Given the description of an element on the screen output the (x, y) to click on. 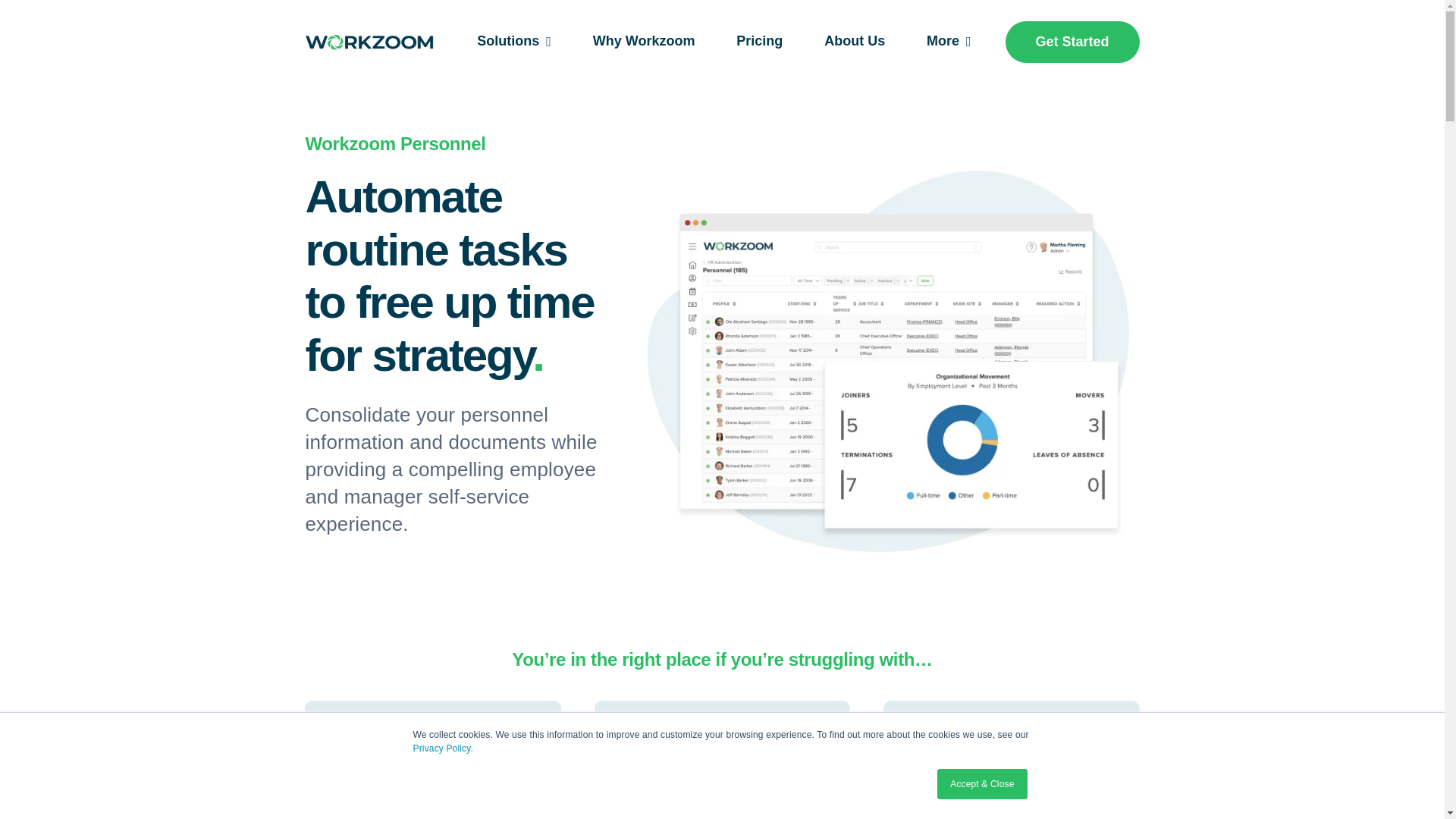
Why Workzoom (644, 42)
Solutions (513, 42)
Pricing (759, 42)
Get Started (1073, 42)
More (948, 42)
About Us (854, 42)
Privacy Policy. (442, 747)
